Given the description of an element on the screen output the (x, y) to click on. 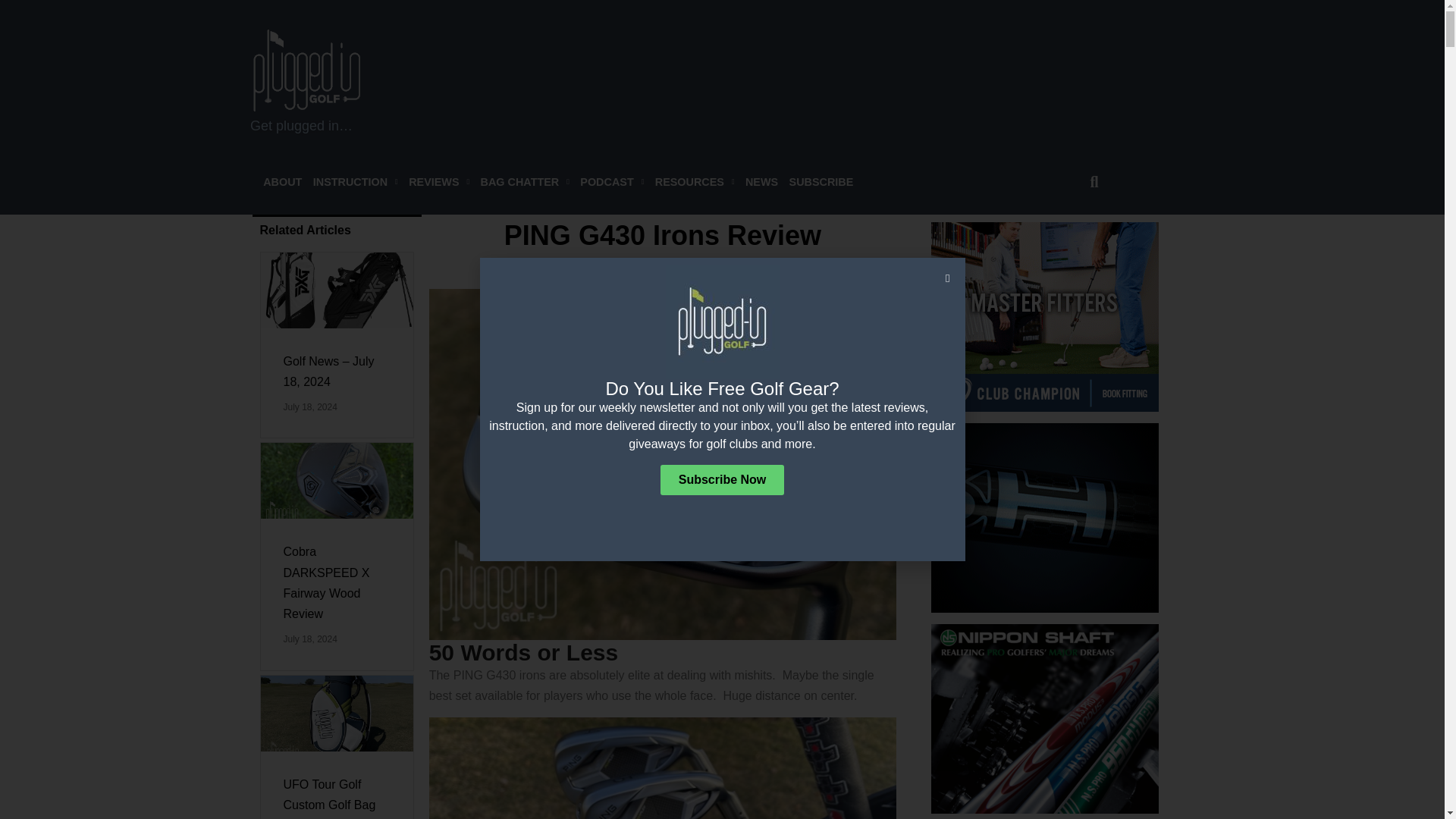
INSTRUCTION (355, 181)
REVIEWS (438, 181)
Plugged-In-Golf-White-on-Blue-e1597419240829 (307, 70)
search-button (1093, 182)
BAG CHATTER (524, 181)
ABOUT (282, 181)
